Given the description of an element on the screen output the (x, y) to click on. 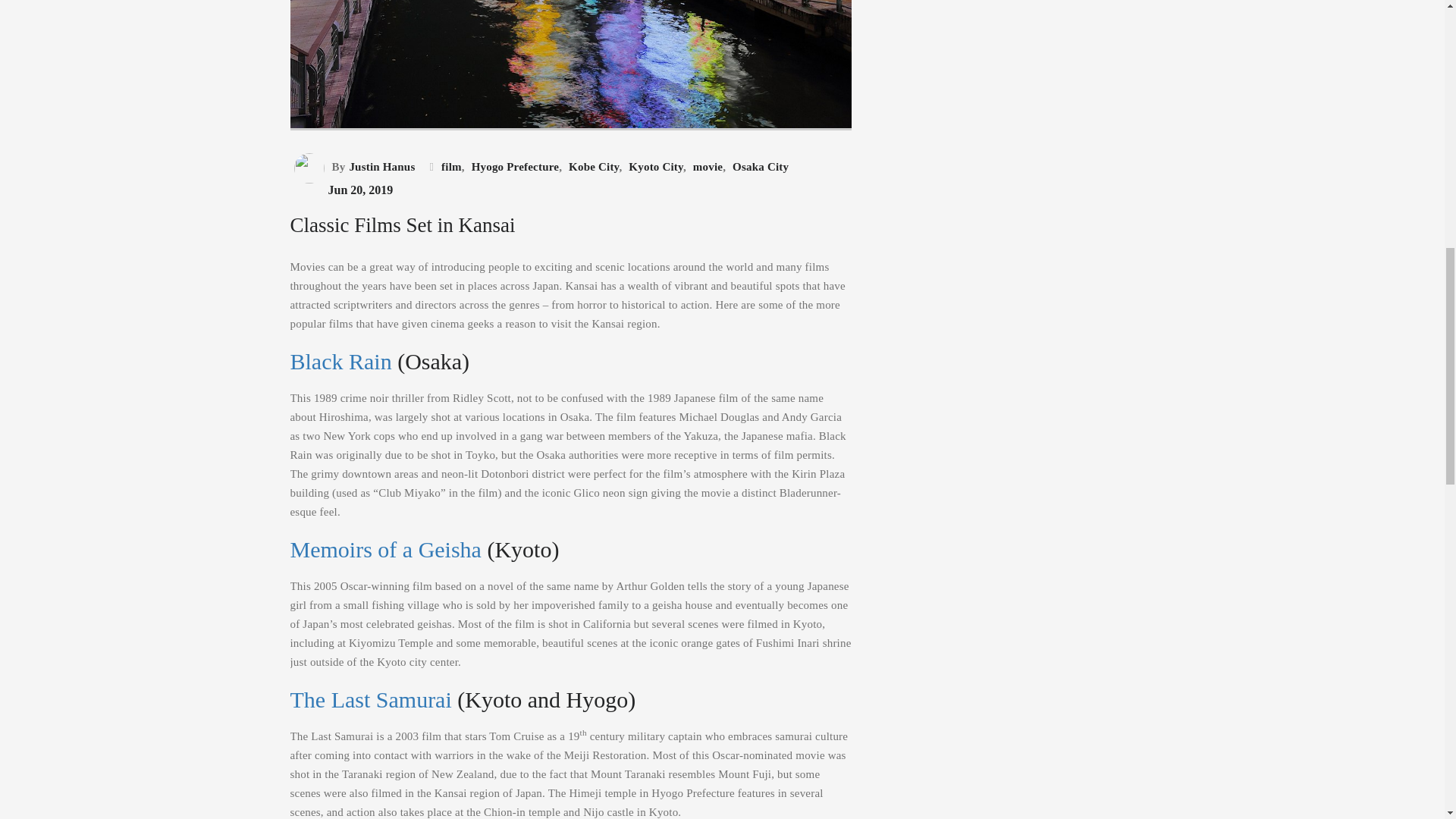
Kyoto City (653, 166)
Justin Hanus (379, 166)
movie (705, 166)
Kobe City (591, 166)
Classic Films Set in Kansai (569, 65)
Classic Films Set in Kansai (569, 149)
Hyogo Prefecture (513, 166)
film (449, 166)
